Given the description of an element on the screen output the (x, y) to click on. 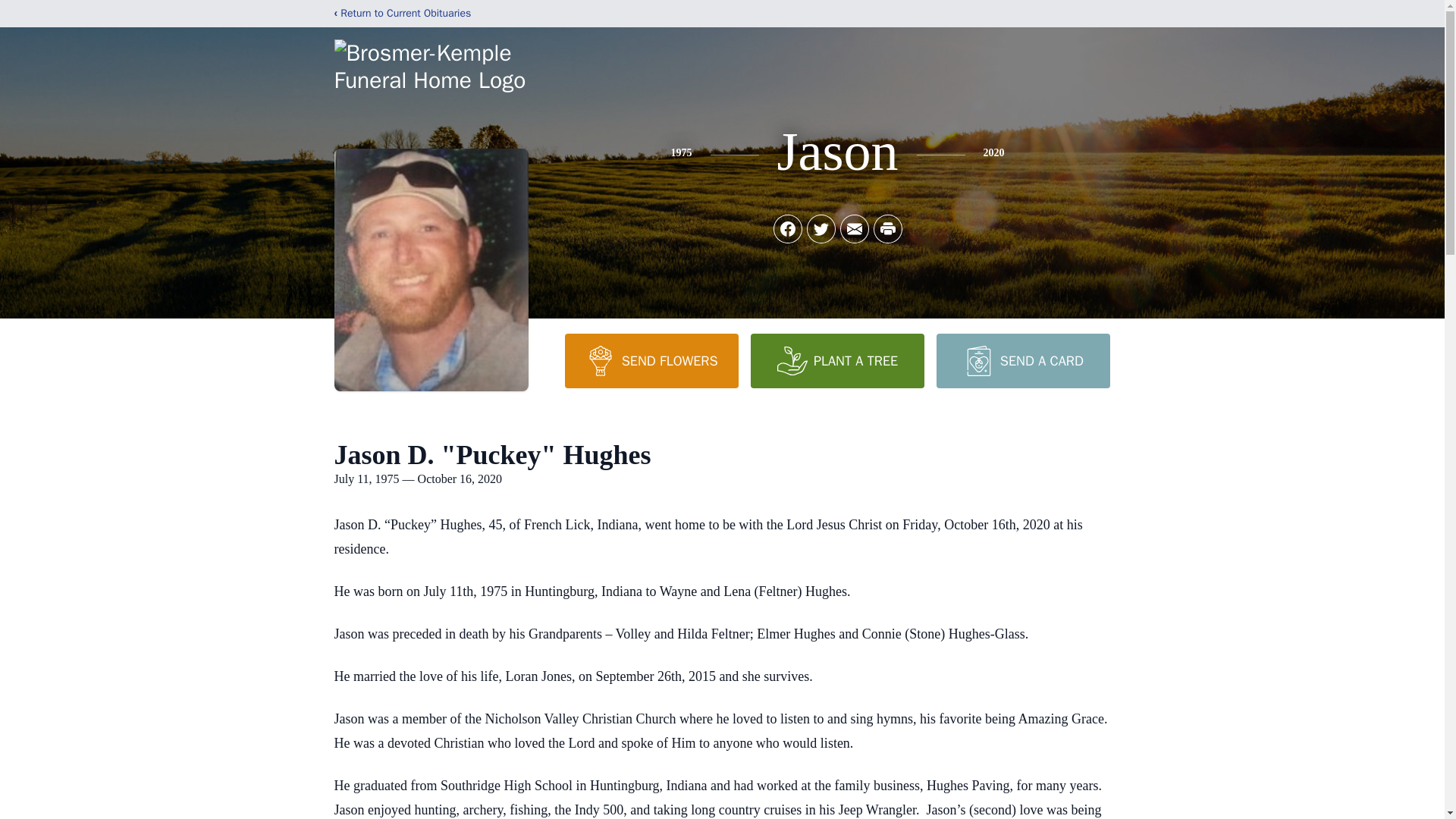
SEND A CARD (1022, 360)
SEND FLOWERS (651, 360)
PLANT A TREE (837, 360)
